Given the description of an element on the screen output the (x, y) to click on. 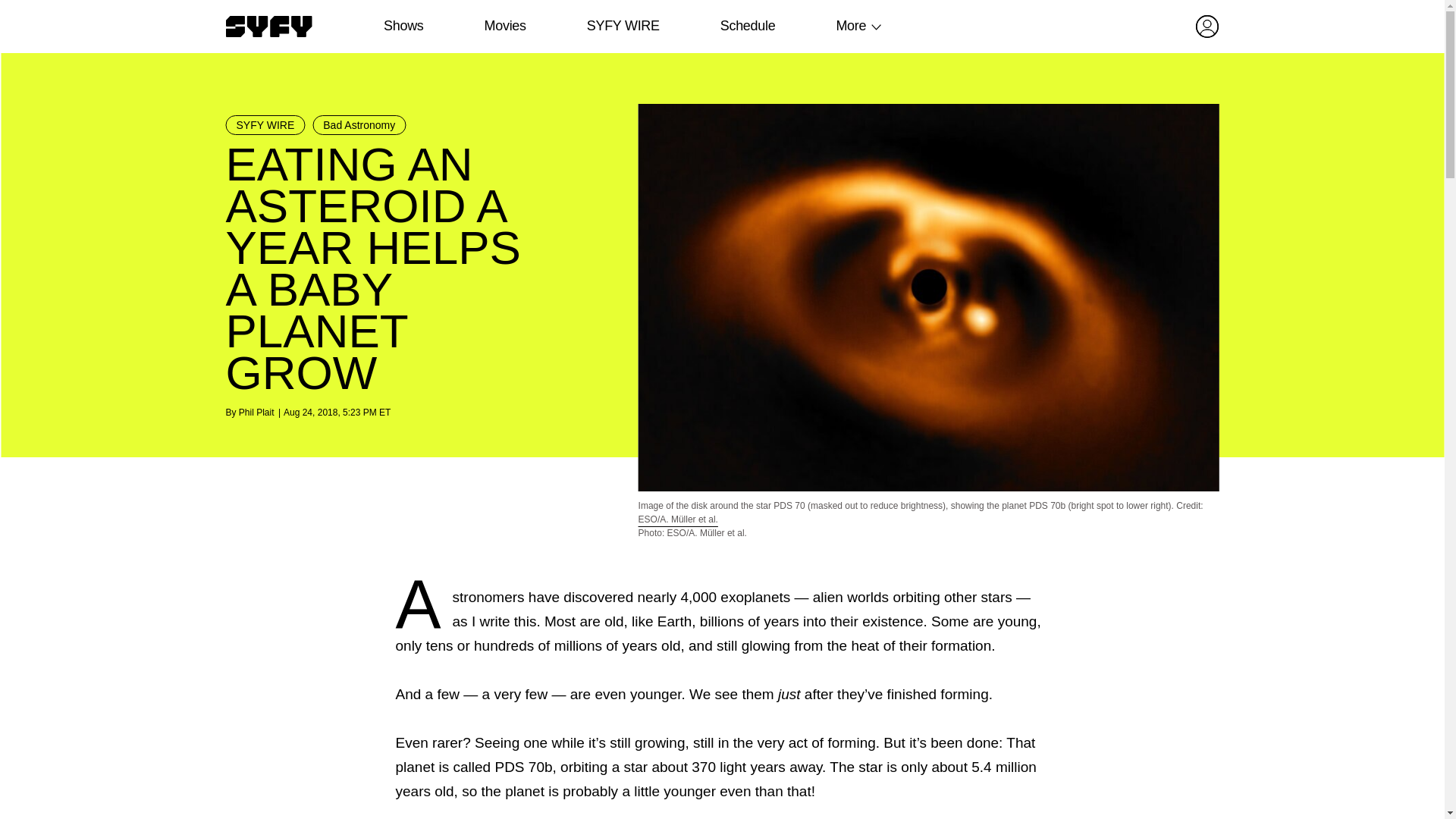
Bad Astronomy (359, 125)
SYFY WIRE (622, 26)
Movies (504, 26)
Shows (403, 26)
Phil Plait (256, 412)
Schedule (746, 26)
SYFY WIRE (265, 125)
More (850, 26)
